Given the description of an element on the screen output the (x, y) to click on. 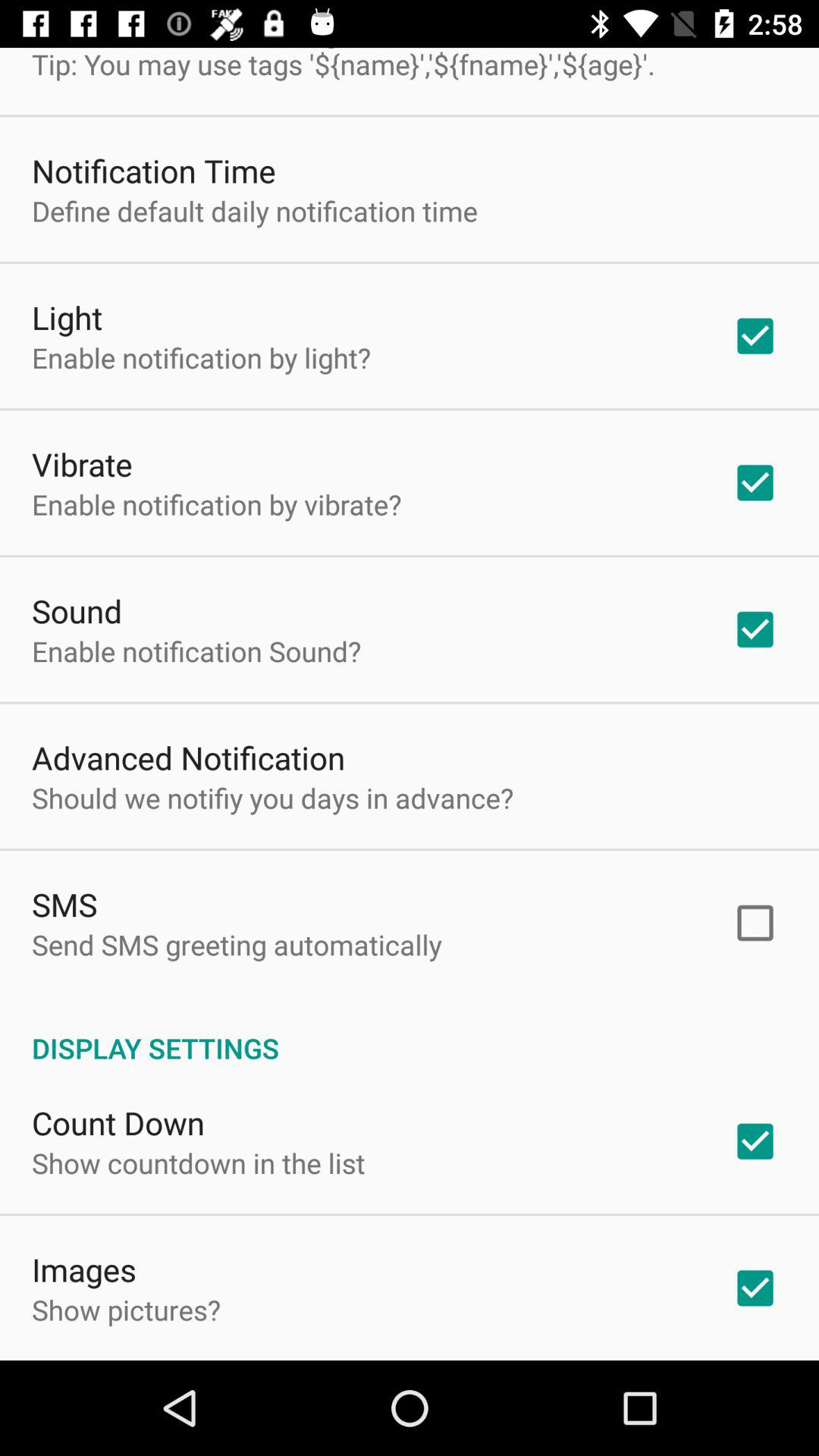
launch app below send sms greeting (409, 1031)
